Given the description of an element on the screen output the (x, y) to click on. 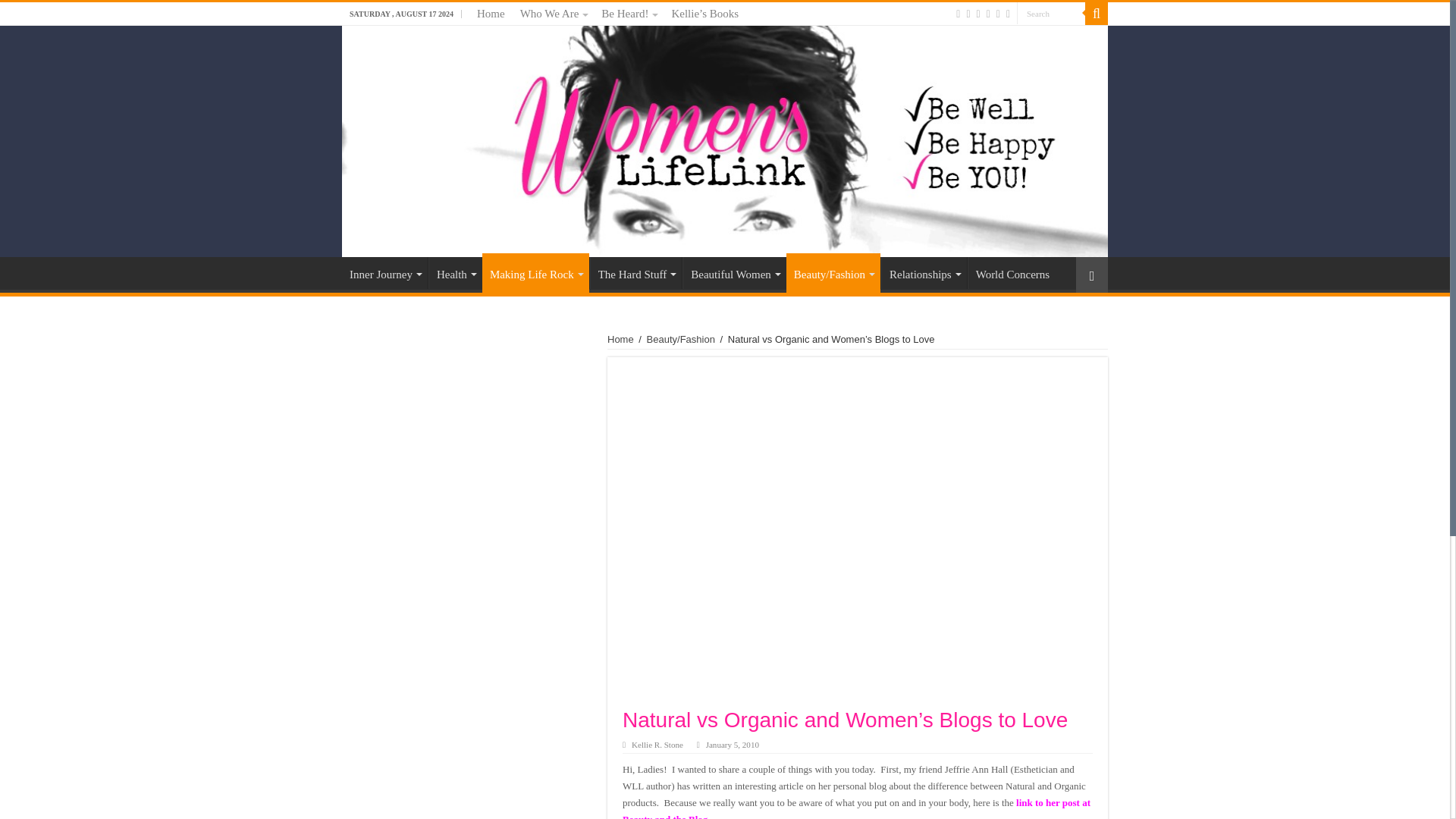
Making Life Rock (535, 272)
Search (1050, 13)
Search (1050, 13)
Health (454, 273)
Inner Journey (385, 273)
Home (490, 13)
Who We Are (553, 13)
Search (1096, 13)
Be Heard! (628, 13)
